Given the description of an element on the screen output the (x, y) to click on. 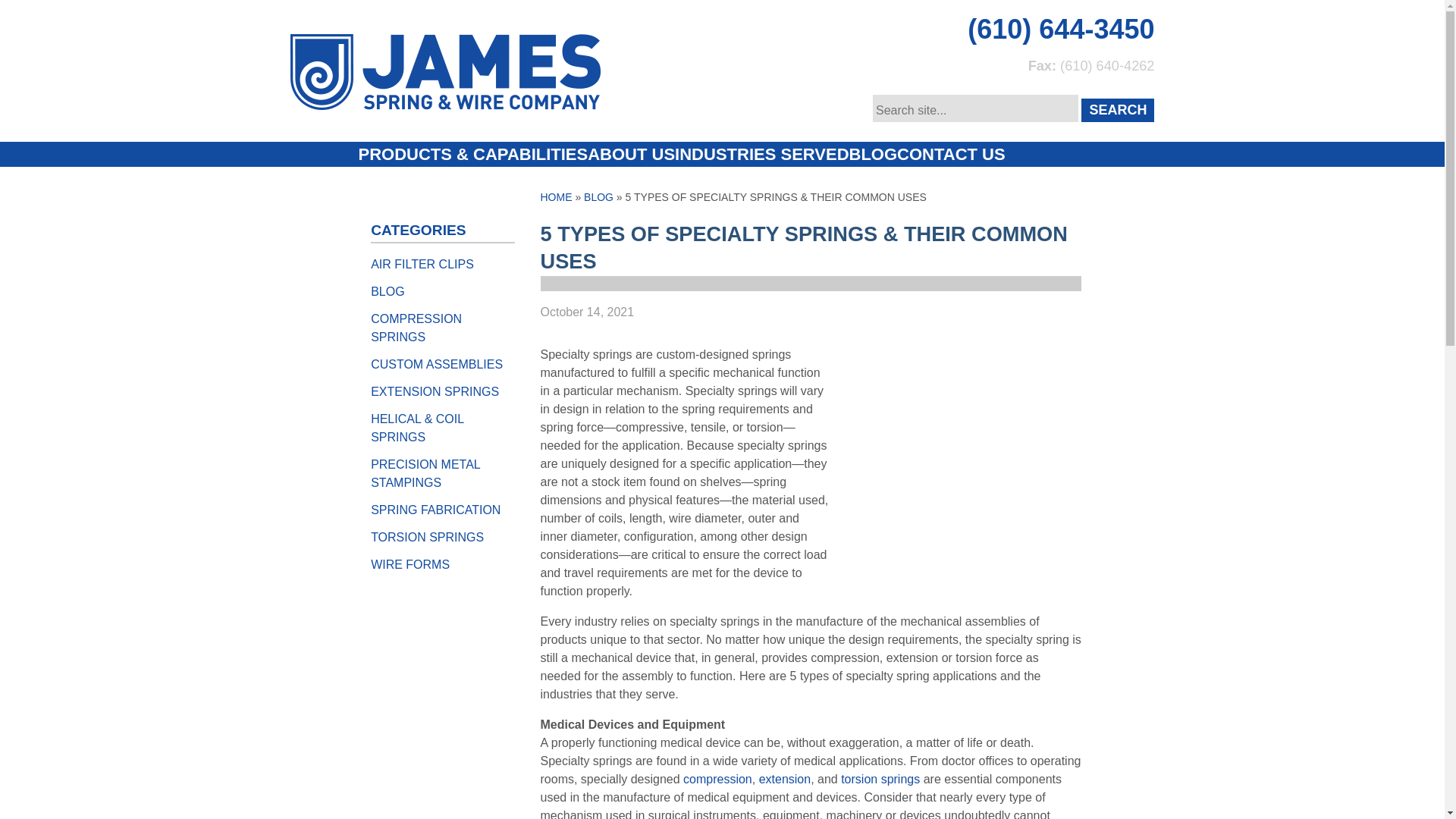
Custom Spring Solutions for Any Industry (761, 154)
SEARCH (1117, 110)
EXTENSION SPRINGS (435, 391)
CONTACT US (951, 154)
COMPRESSION SPRINGS (416, 327)
AIR FILTER CLIPS (422, 264)
SEARCH (1117, 110)
BLOG (387, 291)
Search for: (975, 108)
CUSTOM ASSEMBLIES (436, 364)
